Given the description of an element on the screen output the (x, y) to click on. 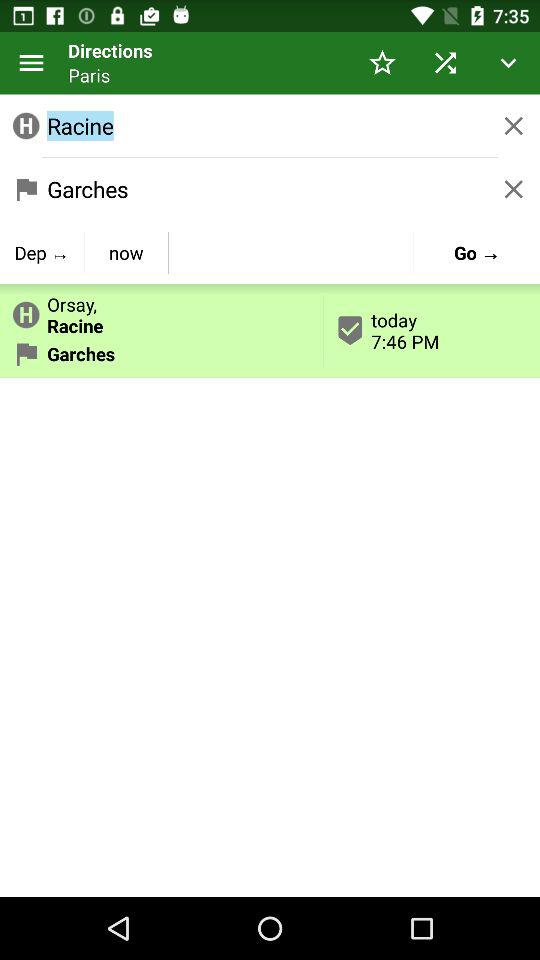
jump until today 7 46 item (432, 330)
